Given the description of an element on the screen output the (x, y) to click on. 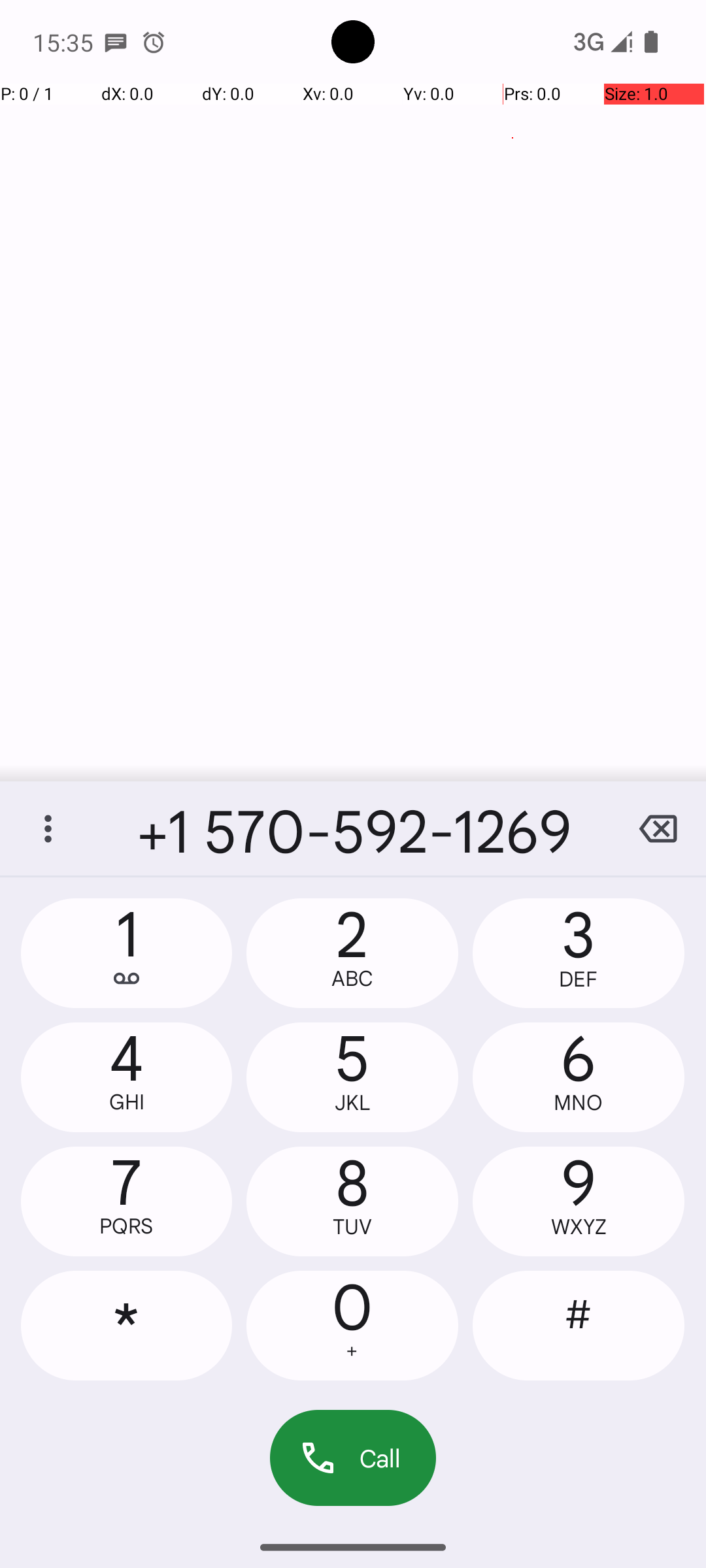
+1 570-592-1269 Element type: android.widget.EditText (352, 828)
